Given the description of an element on the screen output the (x, y) to click on. 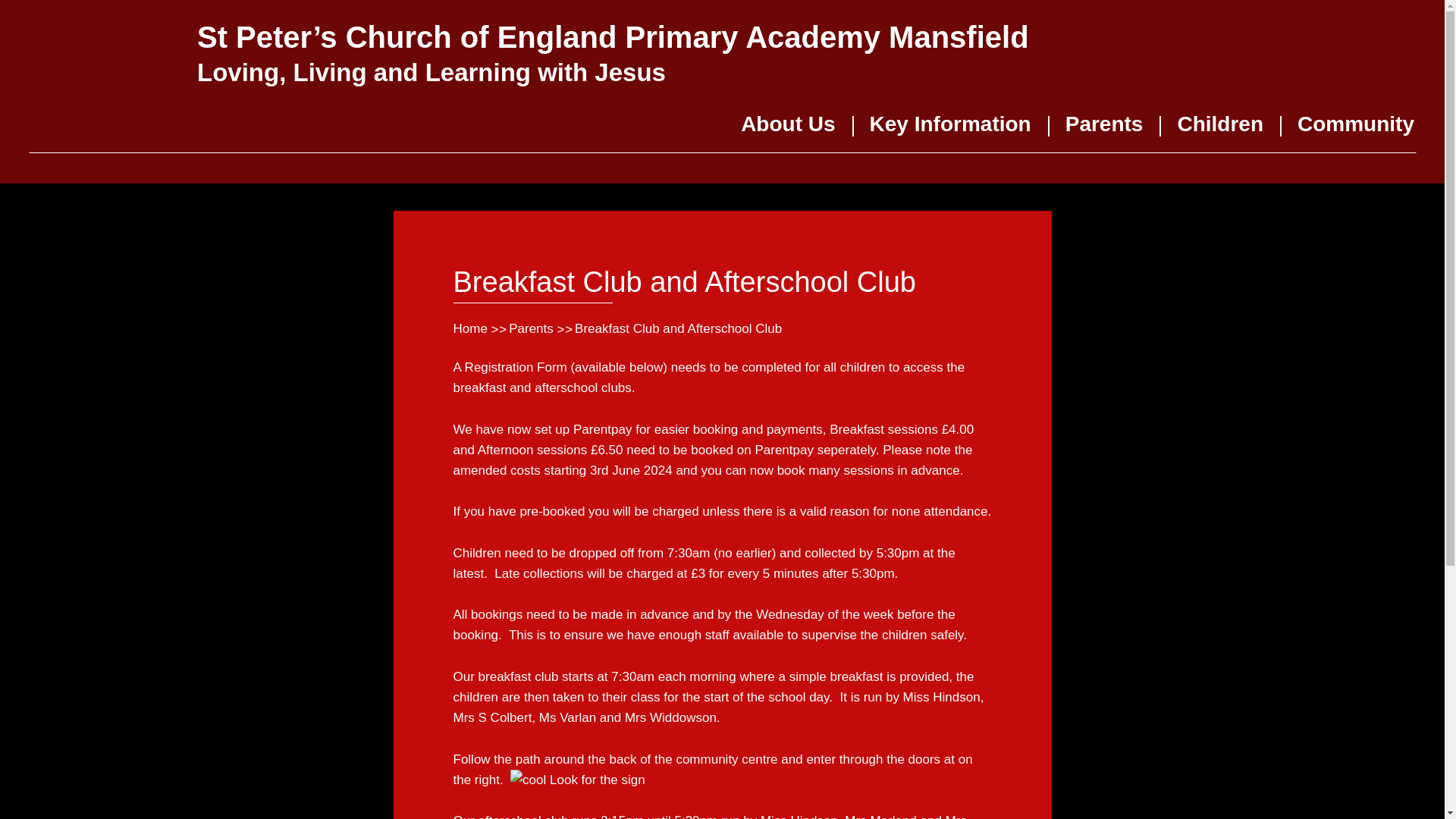
cool (528, 779)
About Us (787, 128)
Parents (1103, 128)
Key Information (949, 128)
